Given the description of an element on the screen output the (x, y) to click on. 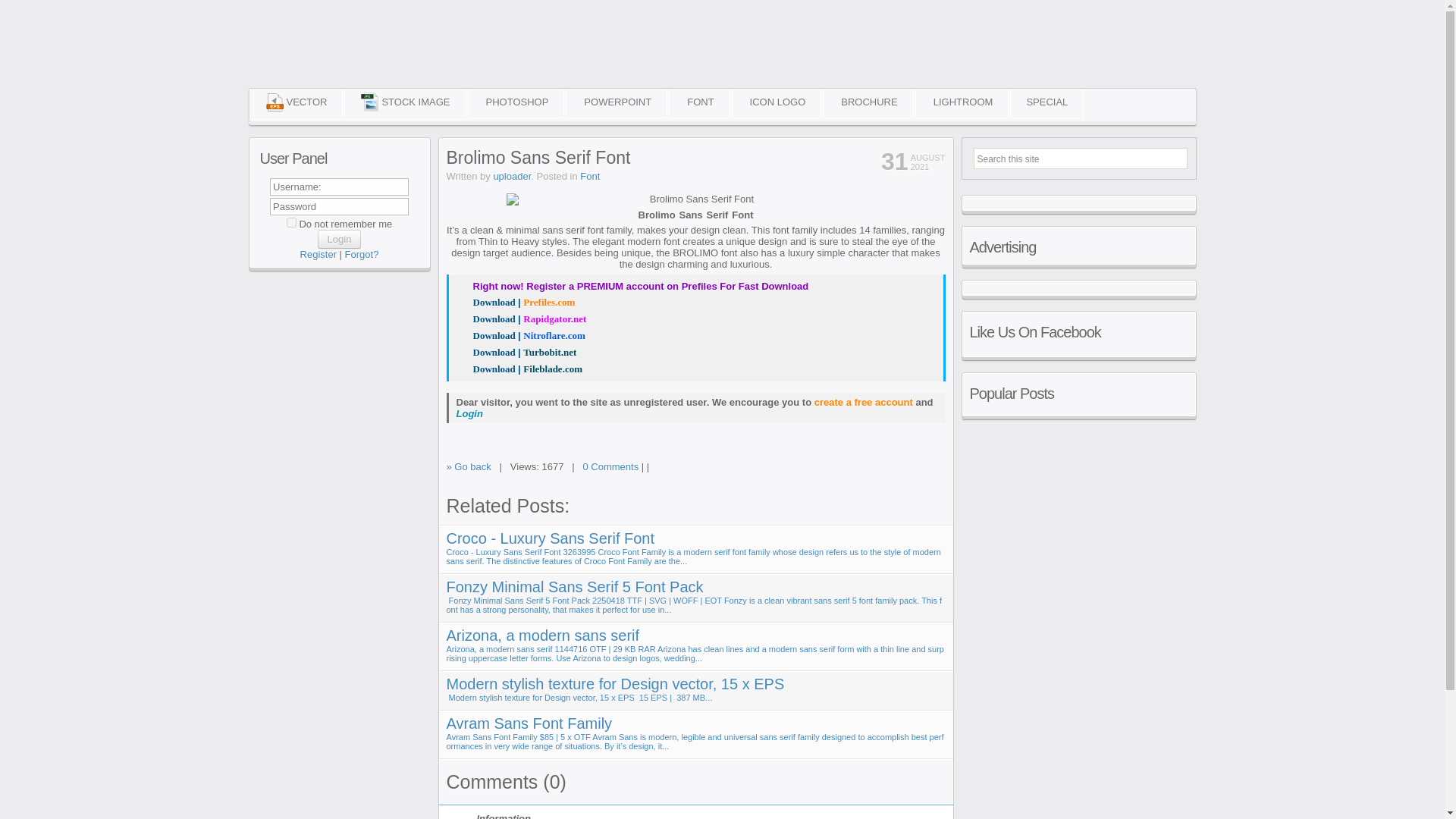
Poor (899, 469)
Brolimo Sans Serif Font (516, 352)
Brolimo Sans Serif Font (516, 302)
VECTOR (295, 103)
Free Download Graphic (395, 55)
1 (291, 222)
Excellent (938, 469)
STOCK IMAGE (404, 103)
Bad (886, 469)
Graphic Downloads (395, 55)
Search this site (1022, 157)
Good (924, 469)
Fair (913, 469)
Brolimo Sans Serif Font (520, 368)
